Given the description of an element on the screen output the (x, y) to click on. 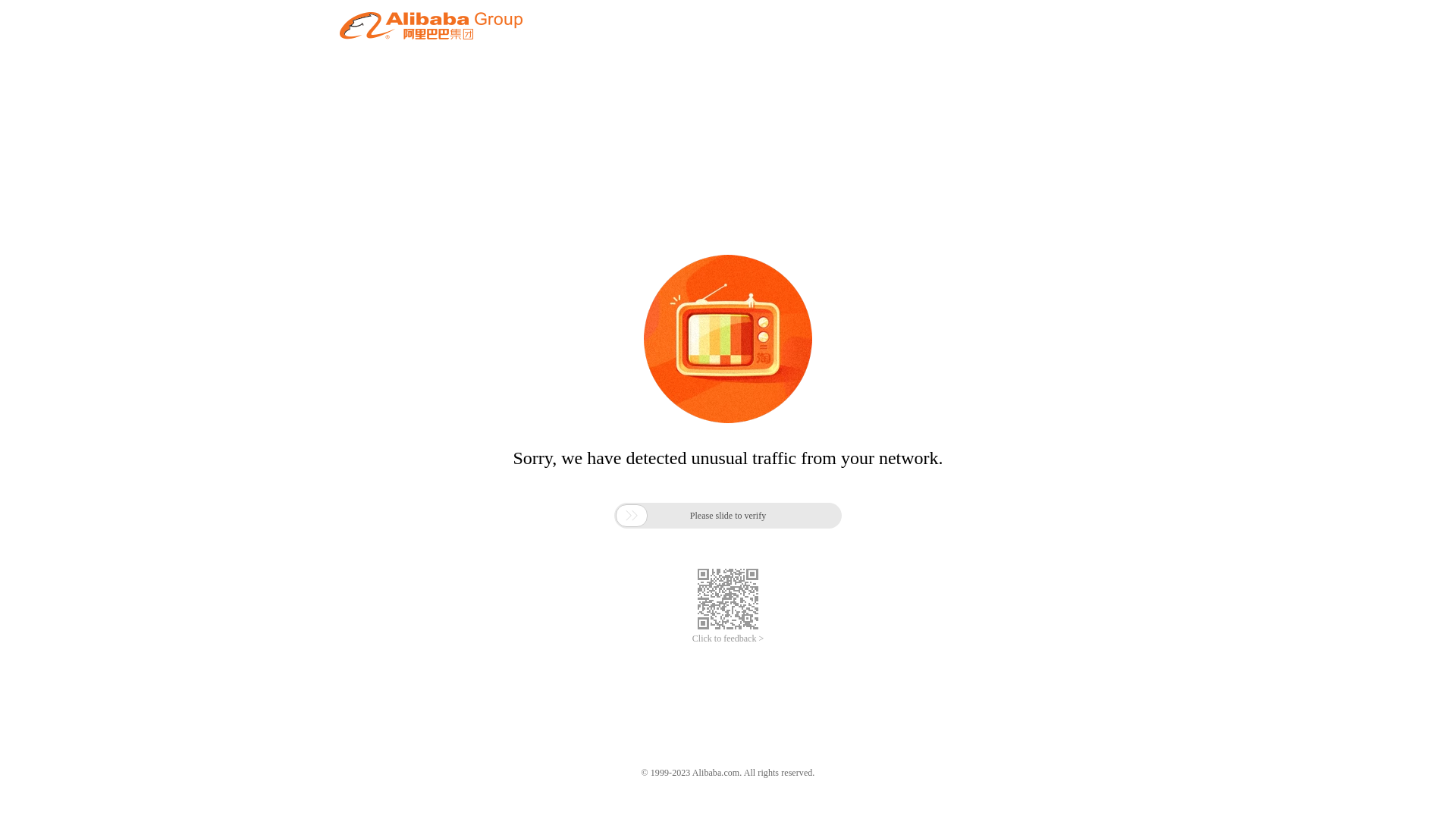
Click to feedback > Element type: text (727, 638)
